Given the description of an element on the screen output the (x, y) to click on. 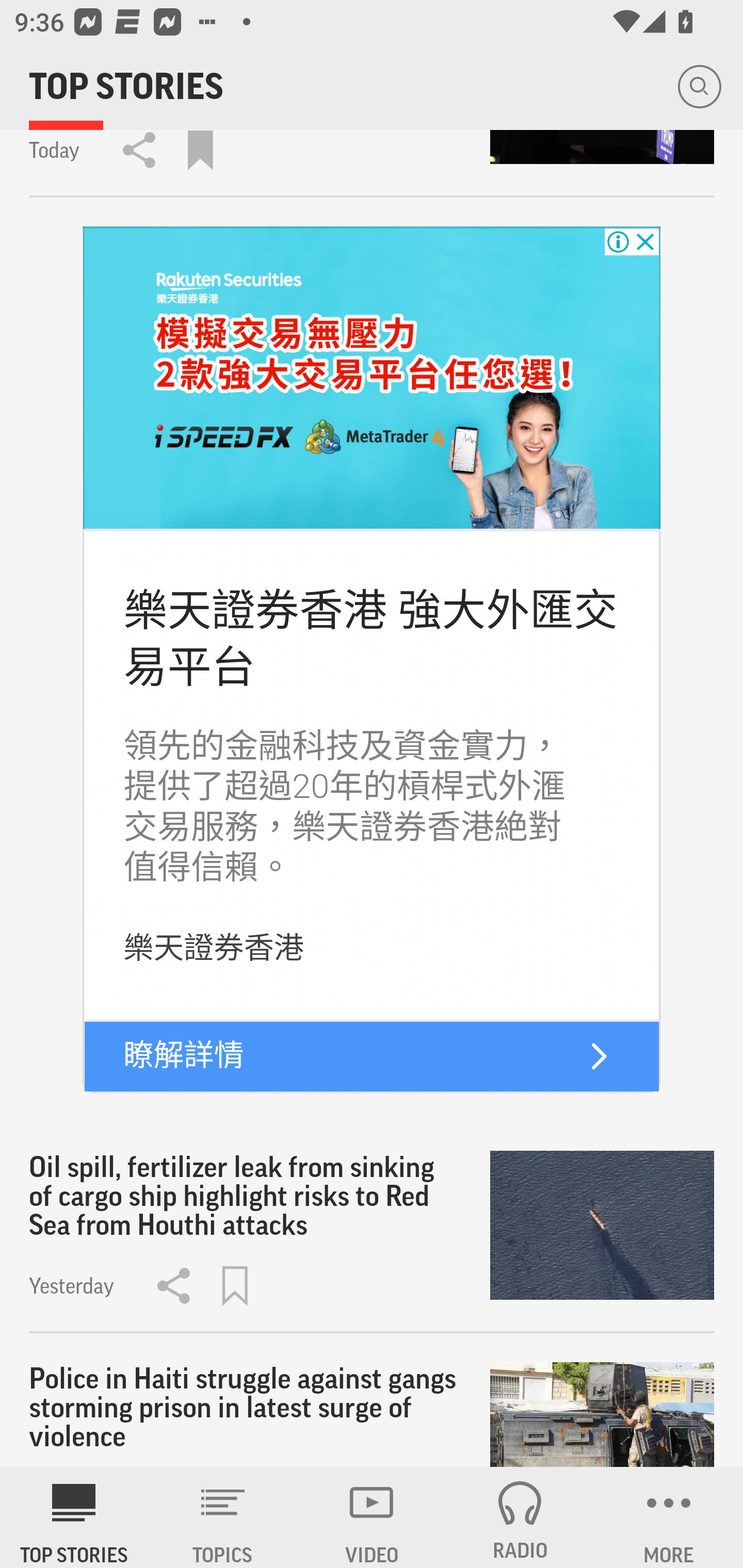
樂天證券香港 強大外匯交 易平台 樂天證券香港 強大外匯交 易平台 (370, 638)
樂天證券香港 (213, 947)
瞭解詳情 (183, 1055)
AP News TOP STORIES (74, 1517)
TOPICS (222, 1517)
VIDEO (371, 1517)
RADIO (519, 1517)
MORE (668, 1517)
